Given the description of an element on the screen output the (x, y) to click on. 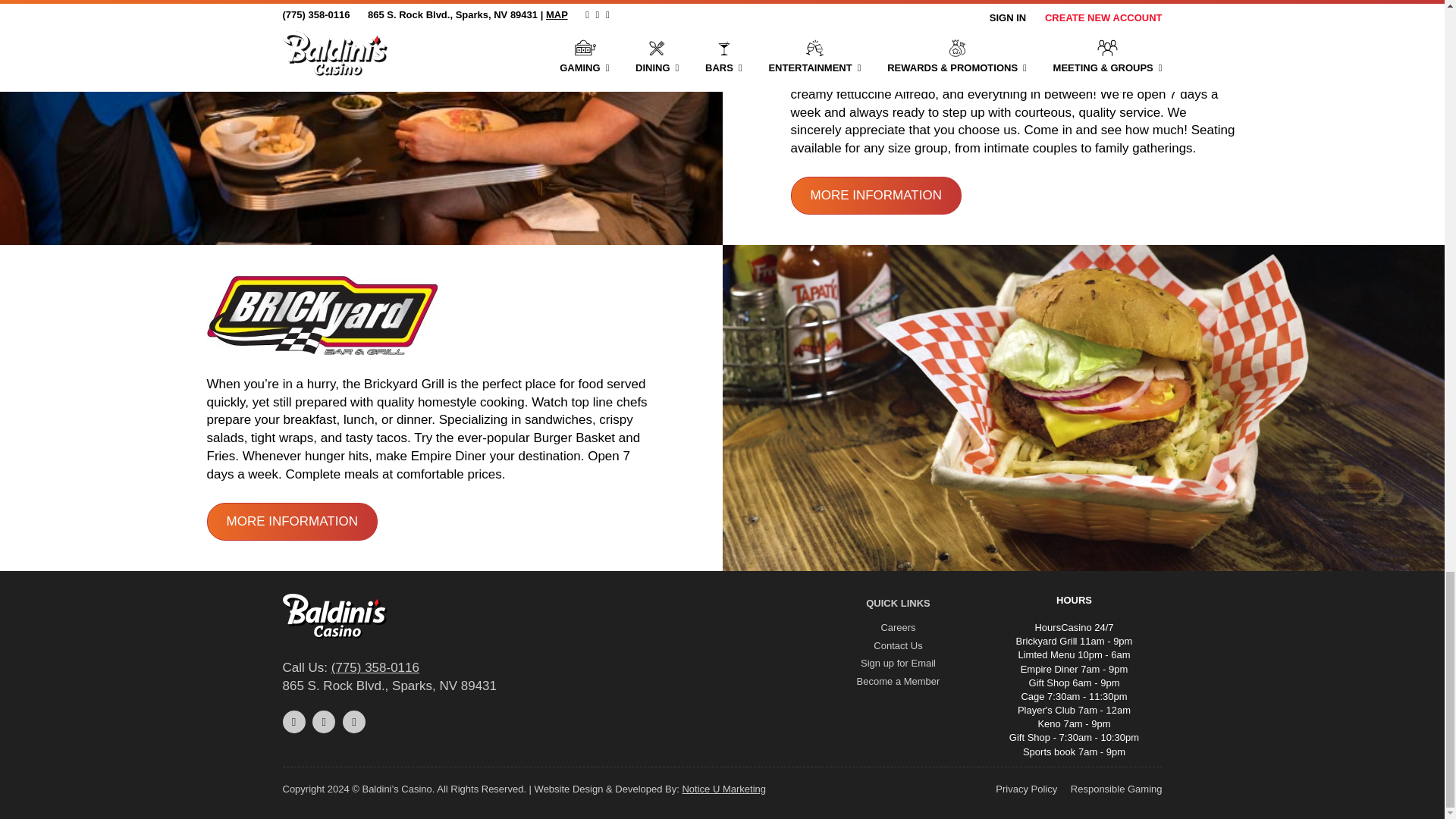
MORE INFORMATION (875, 195)
brickyard-logo (321, 314)
